Given the description of an element on the screen output the (x, y) to click on. 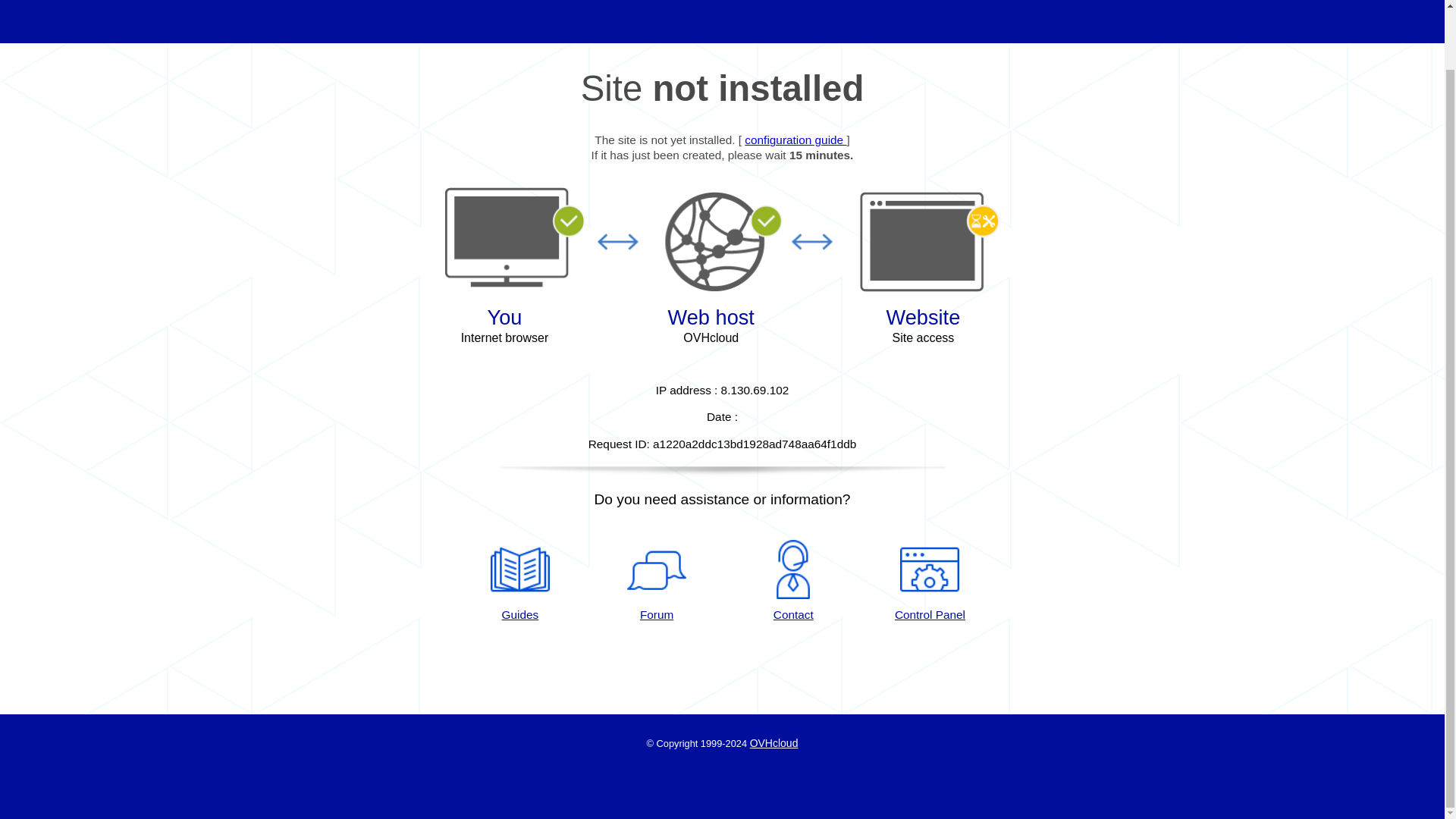
OVHcloud (773, 743)
Control Panel (930, 581)
Guides (519, 581)
Control Panel (930, 581)
Contact (793, 581)
Guides (794, 139)
configuration guide (794, 139)
Guides (519, 581)
Forum (656, 581)
Contact (793, 581)
